Given the description of an element on the screen output the (x, y) to click on. 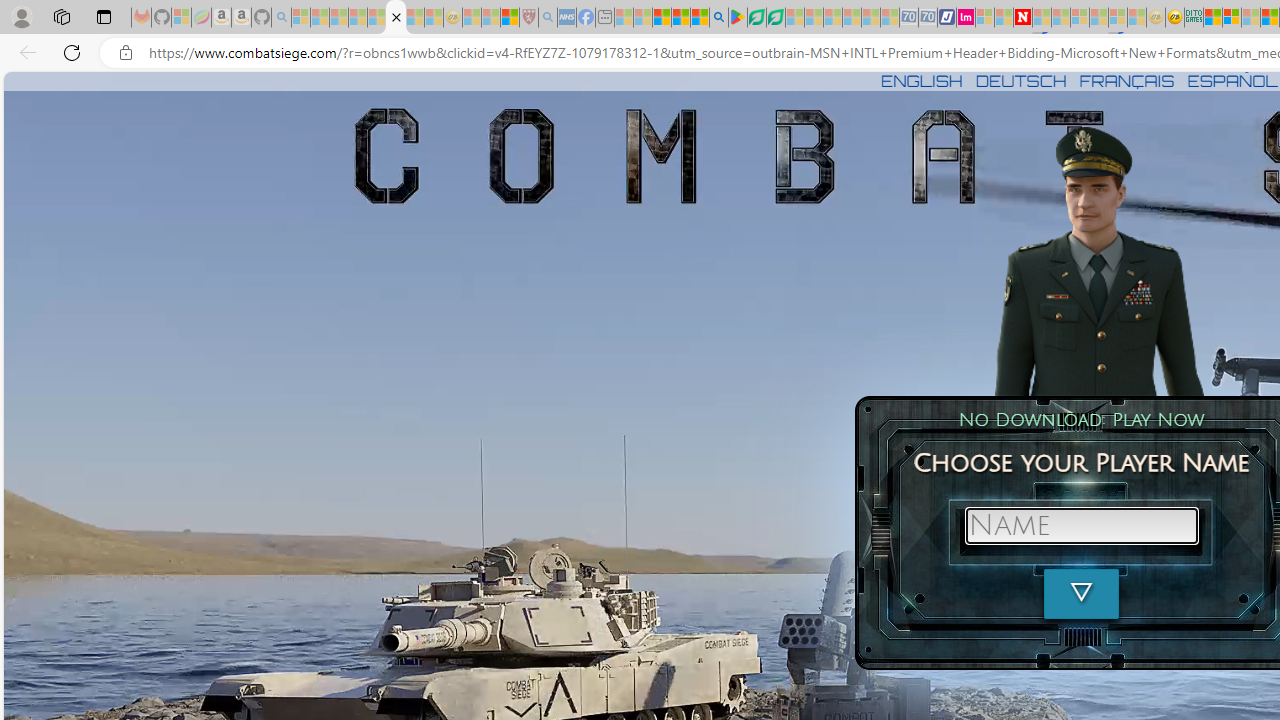
google - Search (719, 17)
Latest Politics News & Archive | Newsweek.com (1022, 17)
Jobs - lastminute.com Investor Portal (966, 17)
ENGLISH (921, 80)
